Given the description of an element on the screen output the (x, y) to click on. 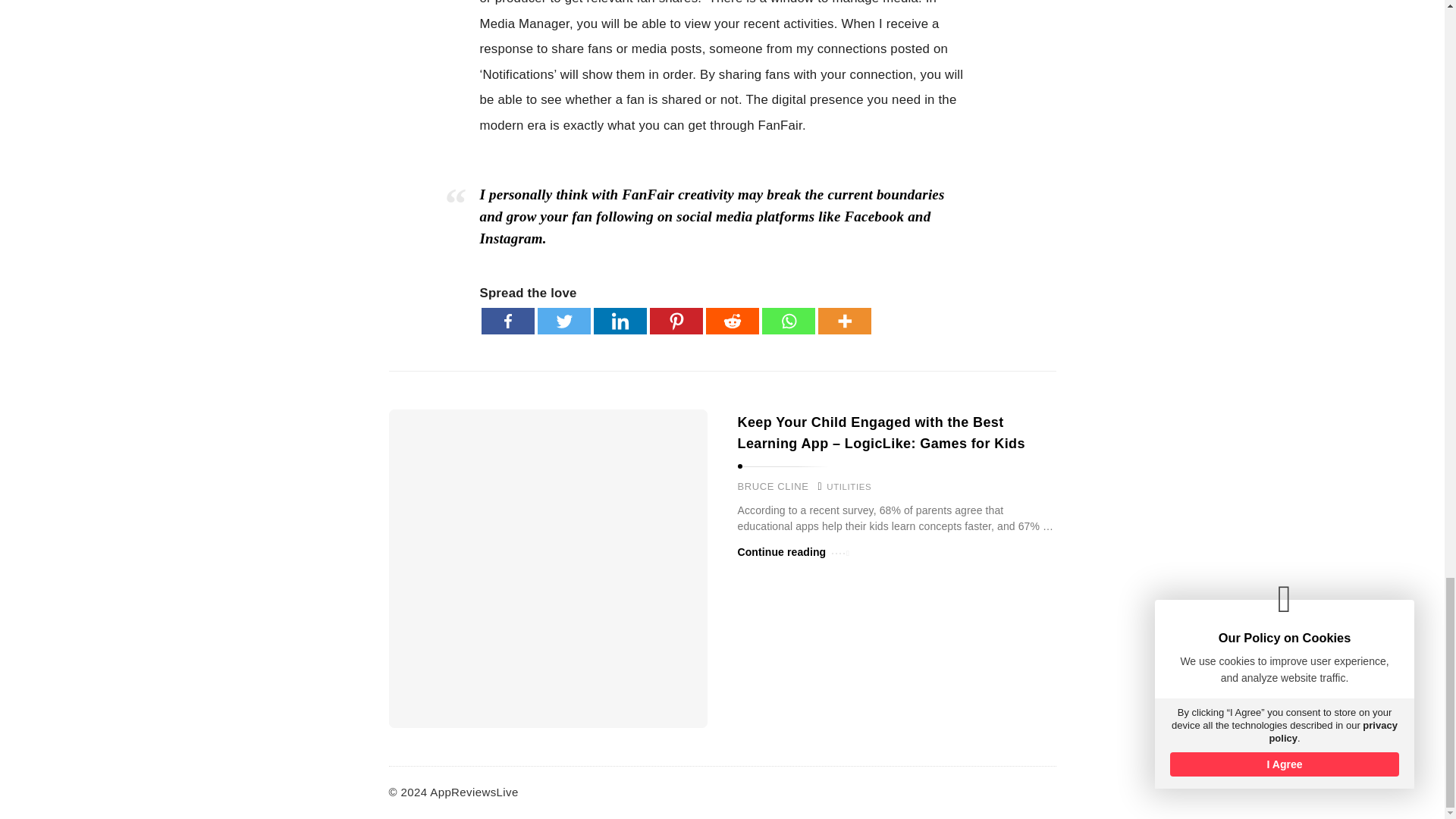
More (843, 320)
UTILITIES (848, 487)
Whatsapp (787, 320)
BRUCE CLINE (772, 486)
Twitter (563, 320)
Reddit (731, 320)
Continue reading (792, 551)
Pinterest (675, 320)
Linkedin (619, 320)
Facebook (507, 320)
